Given the description of an element on the screen output the (x, y) to click on. 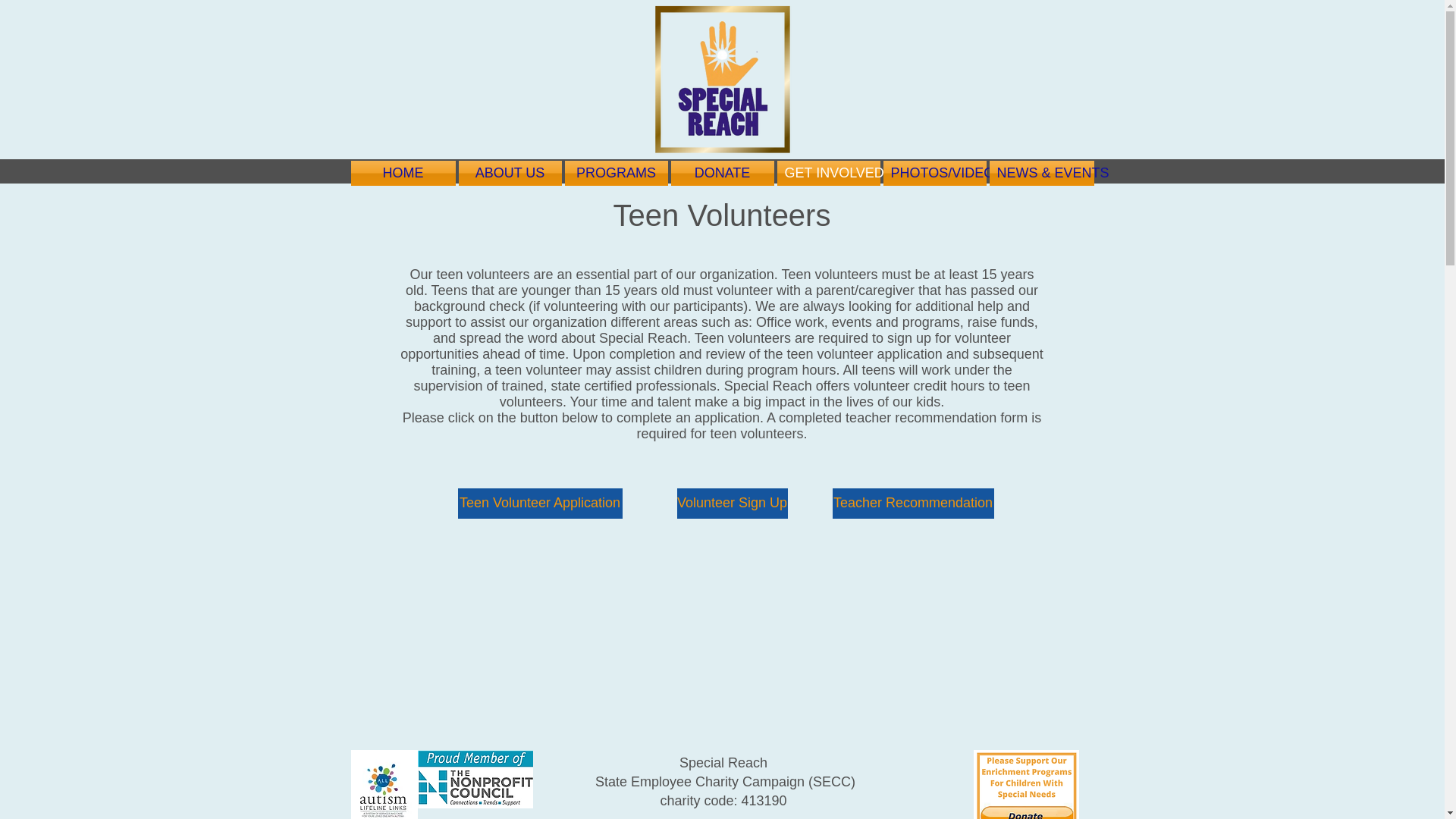
GET INVOLVED (827, 172)
PROGRAMS (615, 172)
DONATE (721, 172)
Teen Volunteer Application (540, 503)
HOME (403, 172)
ABOUT US (509, 172)
Teacher Recommendation (913, 503)
Volunteer Sign Up (732, 503)
